Given the description of an element on the screen output the (x, y) to click on. 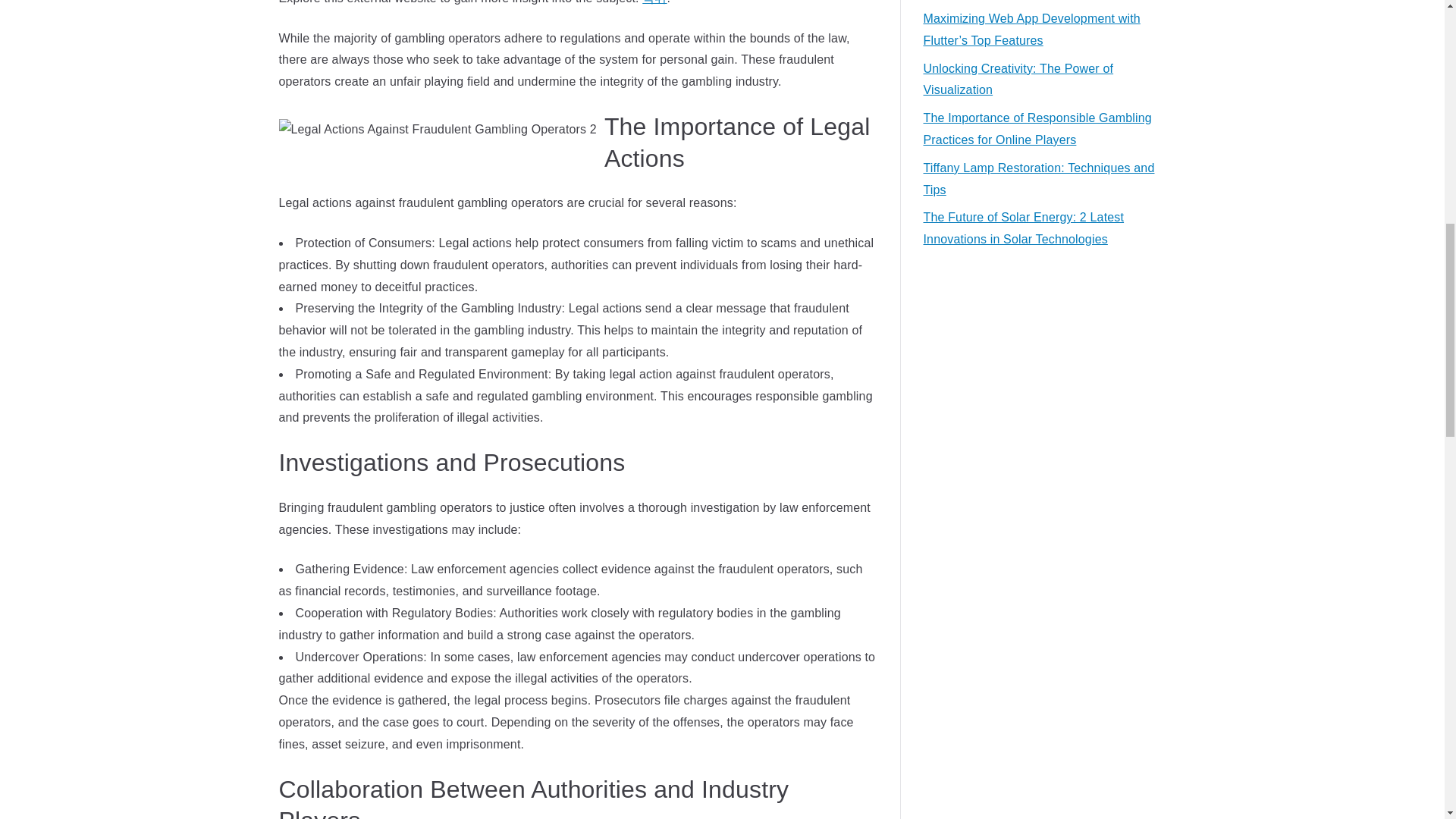
Unlocking Creativity: The Power of Visualization (1044, 80)
Tiffany Lamp Restoration: Techniques and Tips (1044, 179)
